Given the description of an element on the screen output the (x, y) to click on. 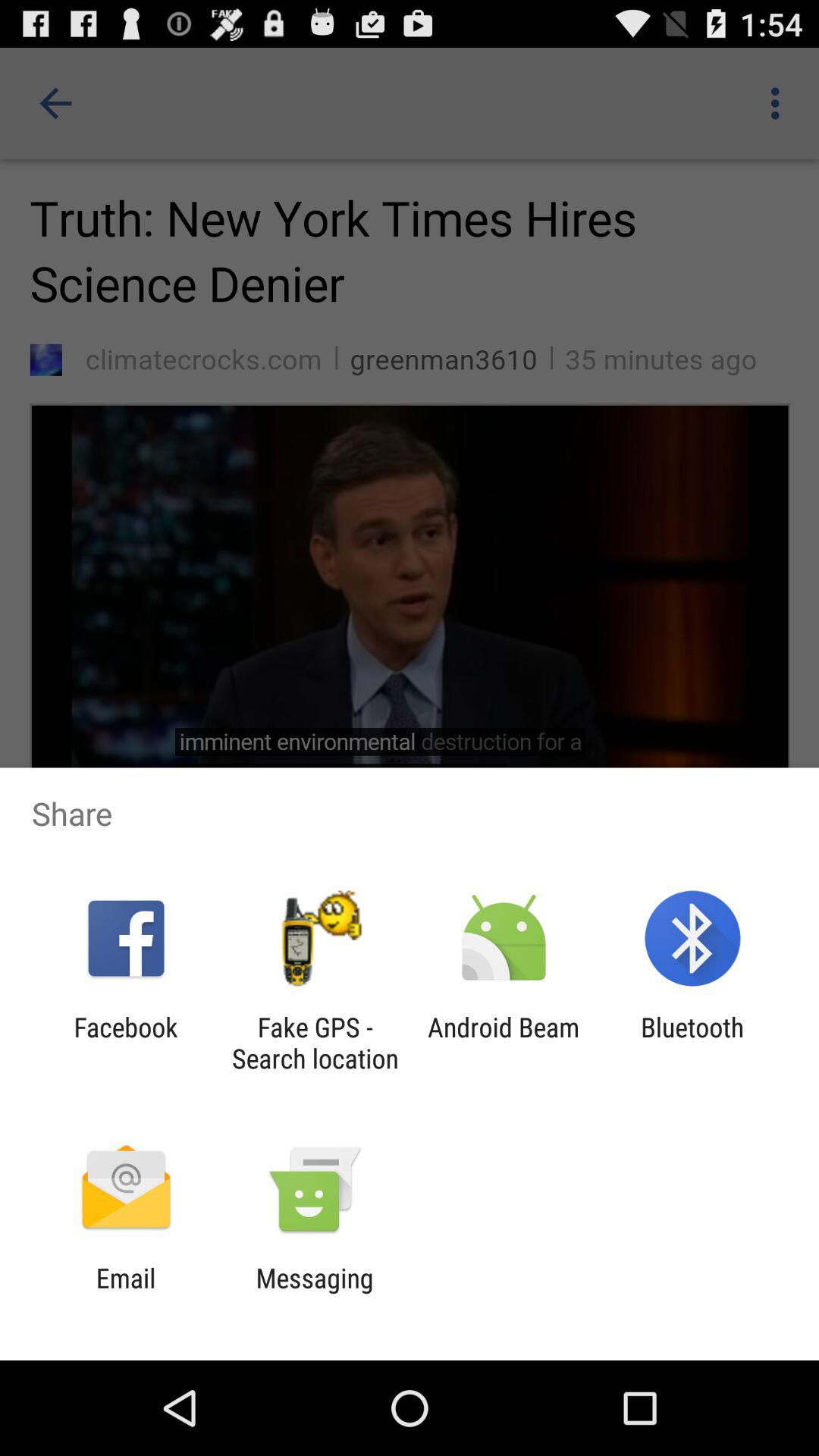
swipe to the fake gps search (314, 1042)
